Given the description of an element on the screen output the (x, y) to click on. 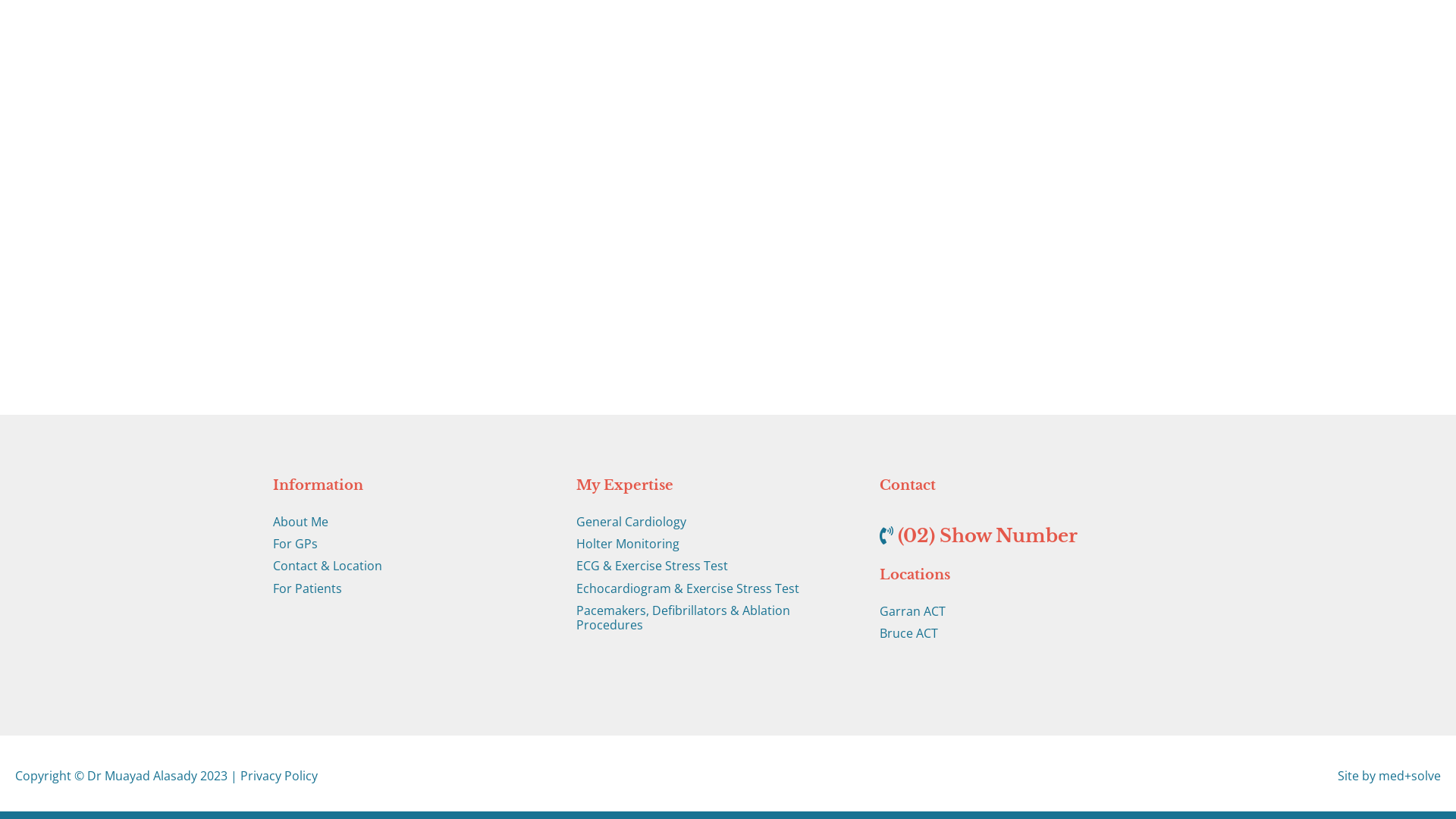
(02) Show Number Element type: text (987, 535)
Echocardiogram & Exercise Stress Test Element type: text (716, 588)
Bruce ACT Element type: text (1019, 633)
Information Element type: text (413, 485)
Contact & Location Element type: text (413, 566)
Privacy Policy Element type: text (278, 775)
My Expertise Element type: text (716, 485)
ECG & Exercise Stress Test Element type: text (716, 566)
Site by med+solve Element type: text (1388, 775)
Garran ACT Element type: text (1019, 611)
Holter Monitoring Element type: text (716, 544)
For GPs Element type: text (413, 544)
General Cardiology Element type: text (716, 522)
Locations Element type: text (1019, 574)
About Me Element type: text (413, 522)
Pacemakers, Defibrillators & Ablation Procedures Element type: text (716, 617)
For Patients Element type: text (413, 588)
